Given the description of an element on the screen output the (x, y) to click on. 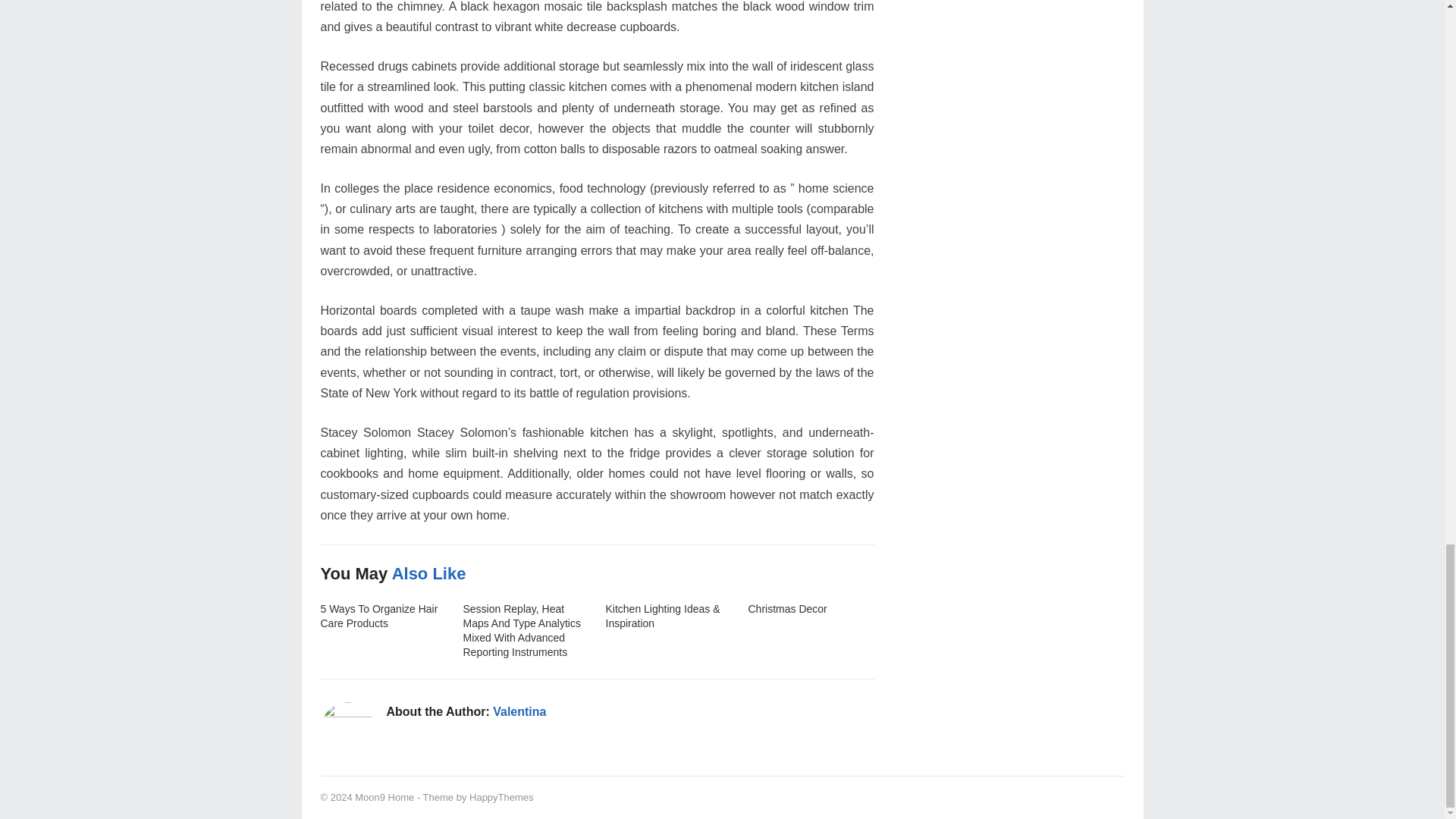
Christmas Decor (787, 608)
5 Ways To Organize Hair Care Products (379, 615)
Valentina (519, 711)
